Given the description of an element on the screen output the (x, y) to click on. 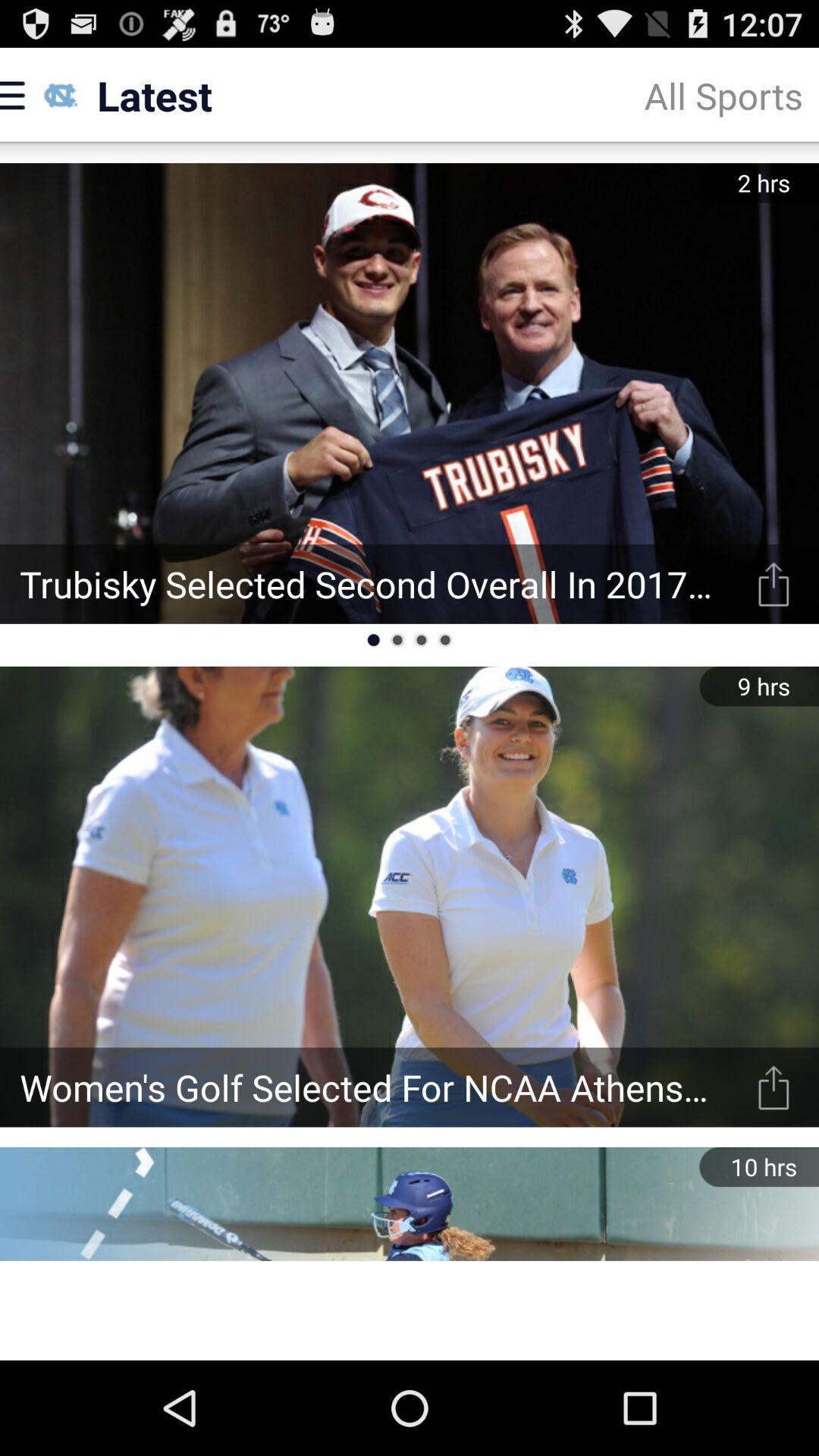
advertisement (409, 1310)
